Given the description of an element on the screen output the (x, y) to click on. 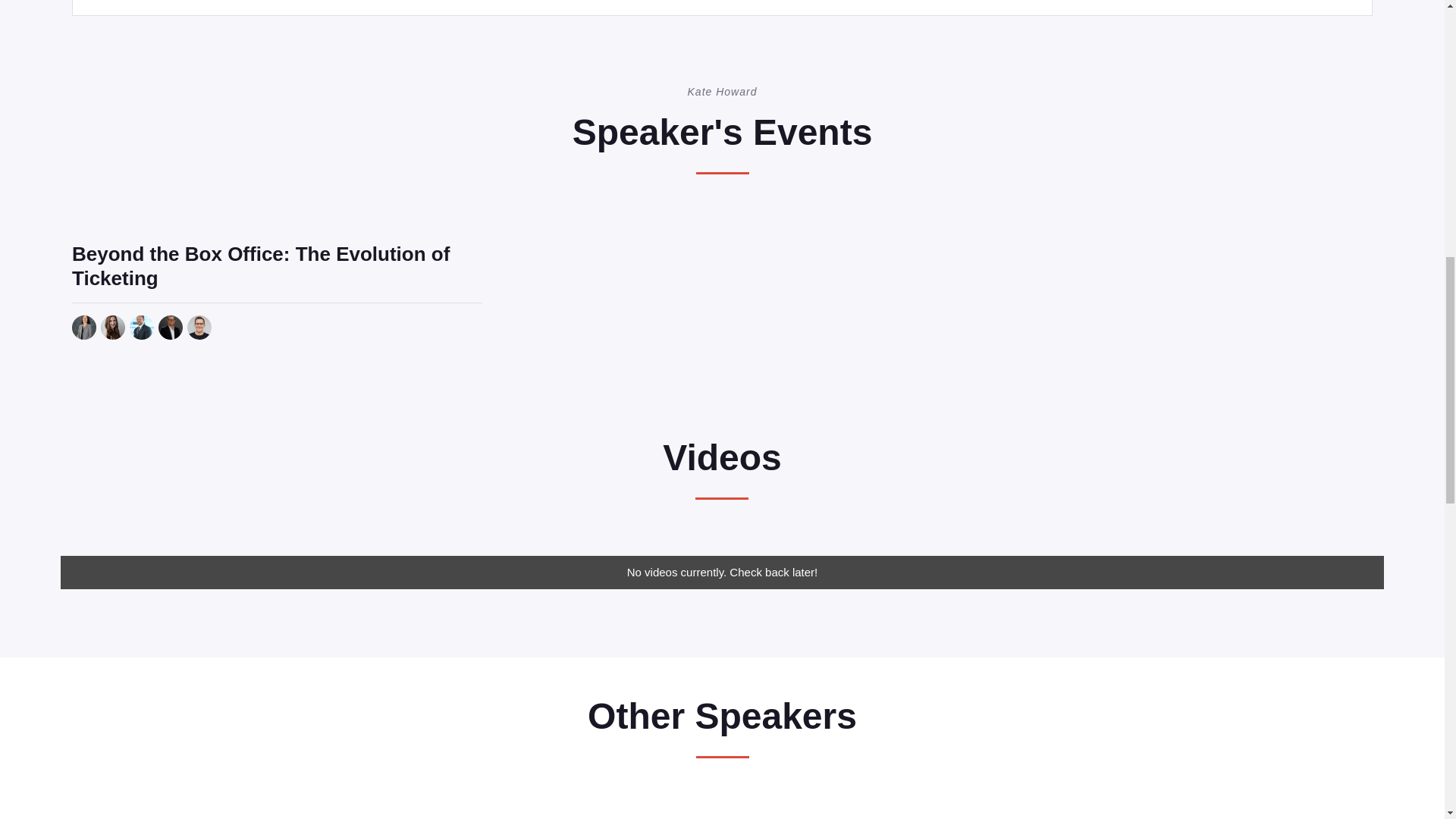
Beyond the Box Office: The Evolution of Ticketing (276, 271)
